Given the description of an element on the screen output the (x, y) to click on. 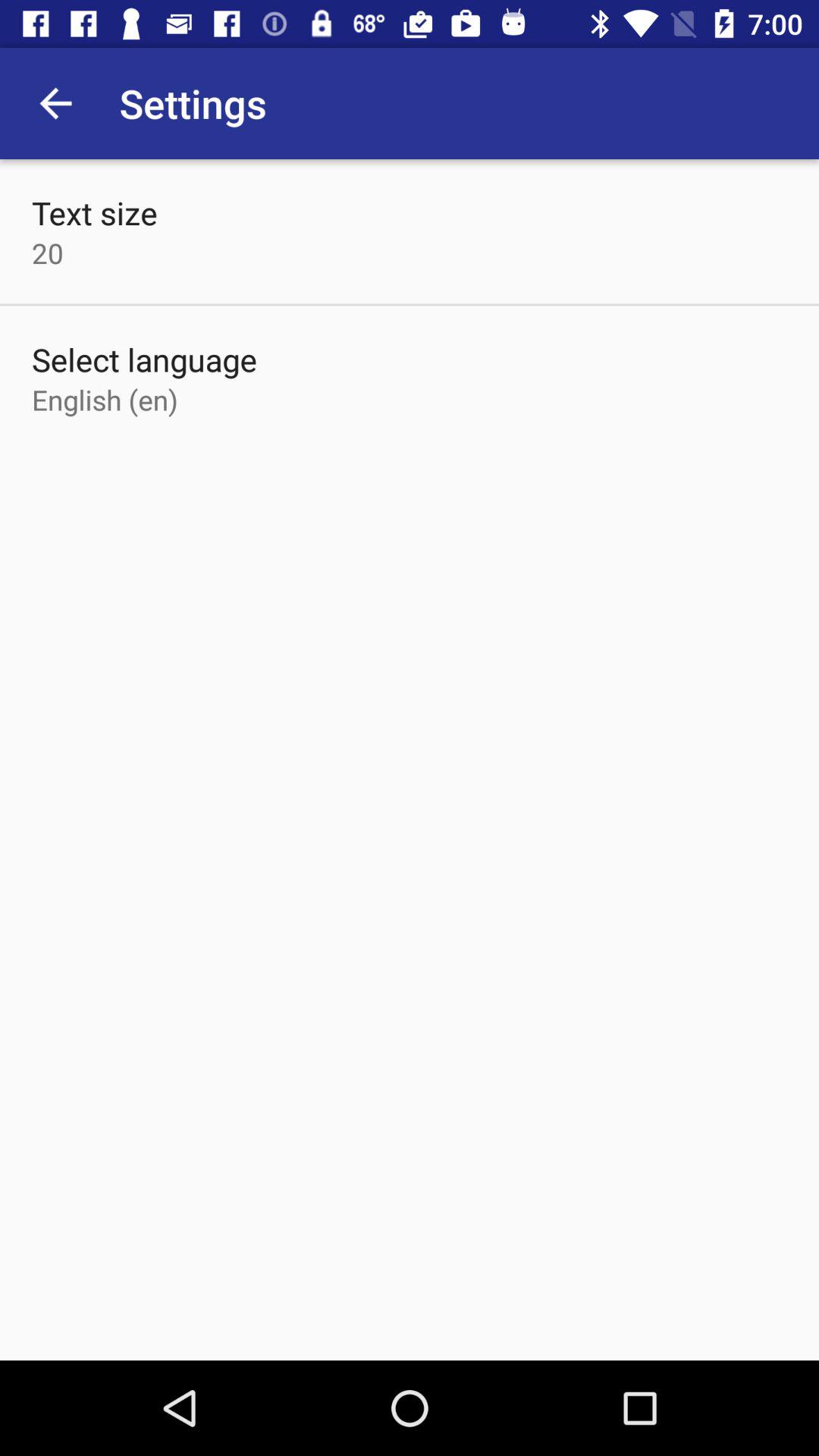
scroll to the select language (144, 359)
